Given the description of an element on the screen output the (x, y) to click on. 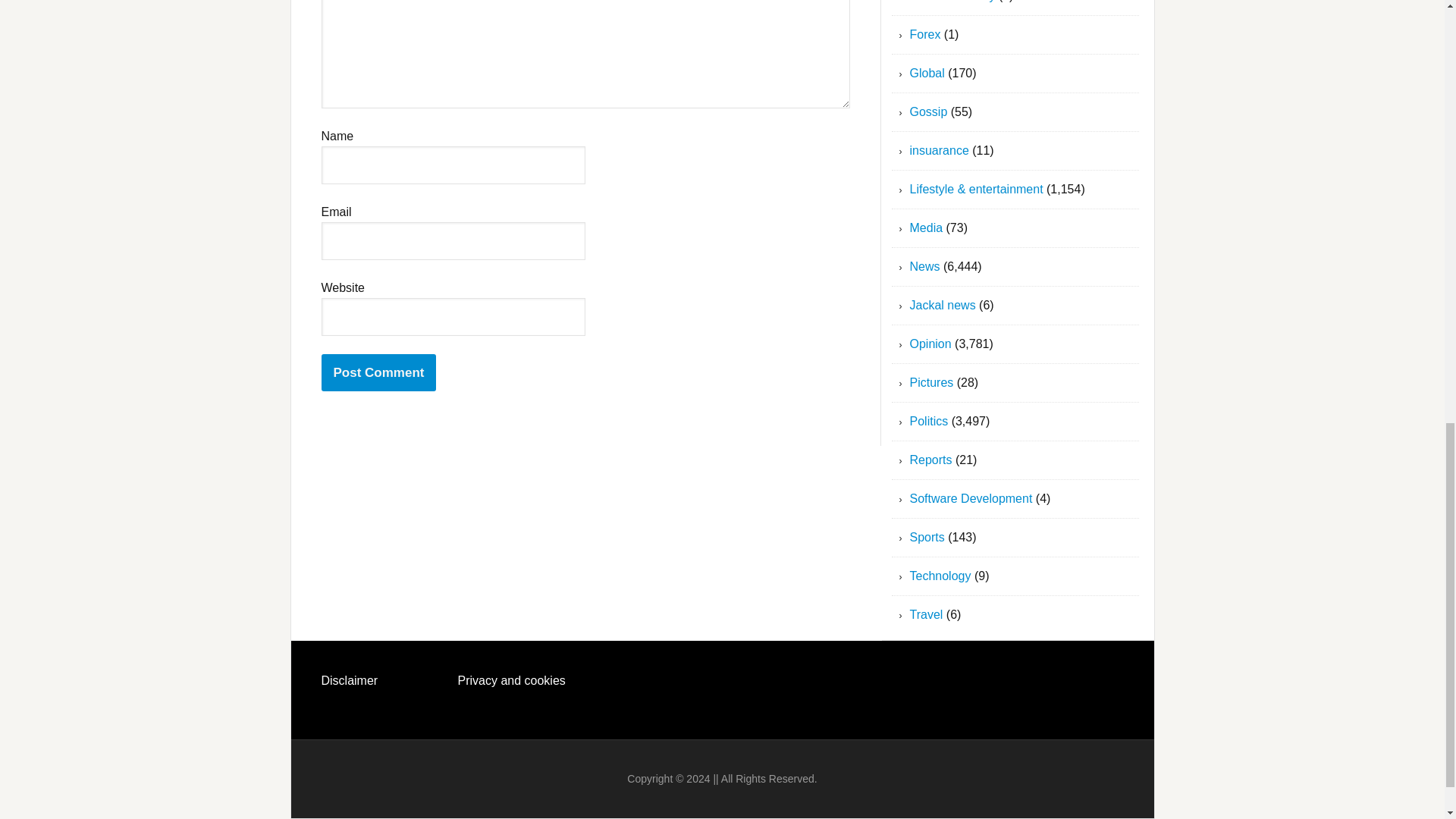
Gossip (928, 111)
Jackal news (942, 305)
Politics (929, 420)
Forex (925, 33)
Media (926, 227)
Reports (931, 459)
Post Comment (378, 372)
Post Comment (378, 372)
Pictures (931, 382)
Opinion (931, 343)
insuarance (939, 150)
News (925, 266)
Global (927, 72)
